Given the description of an element on the screen output the (x, y) to click on. 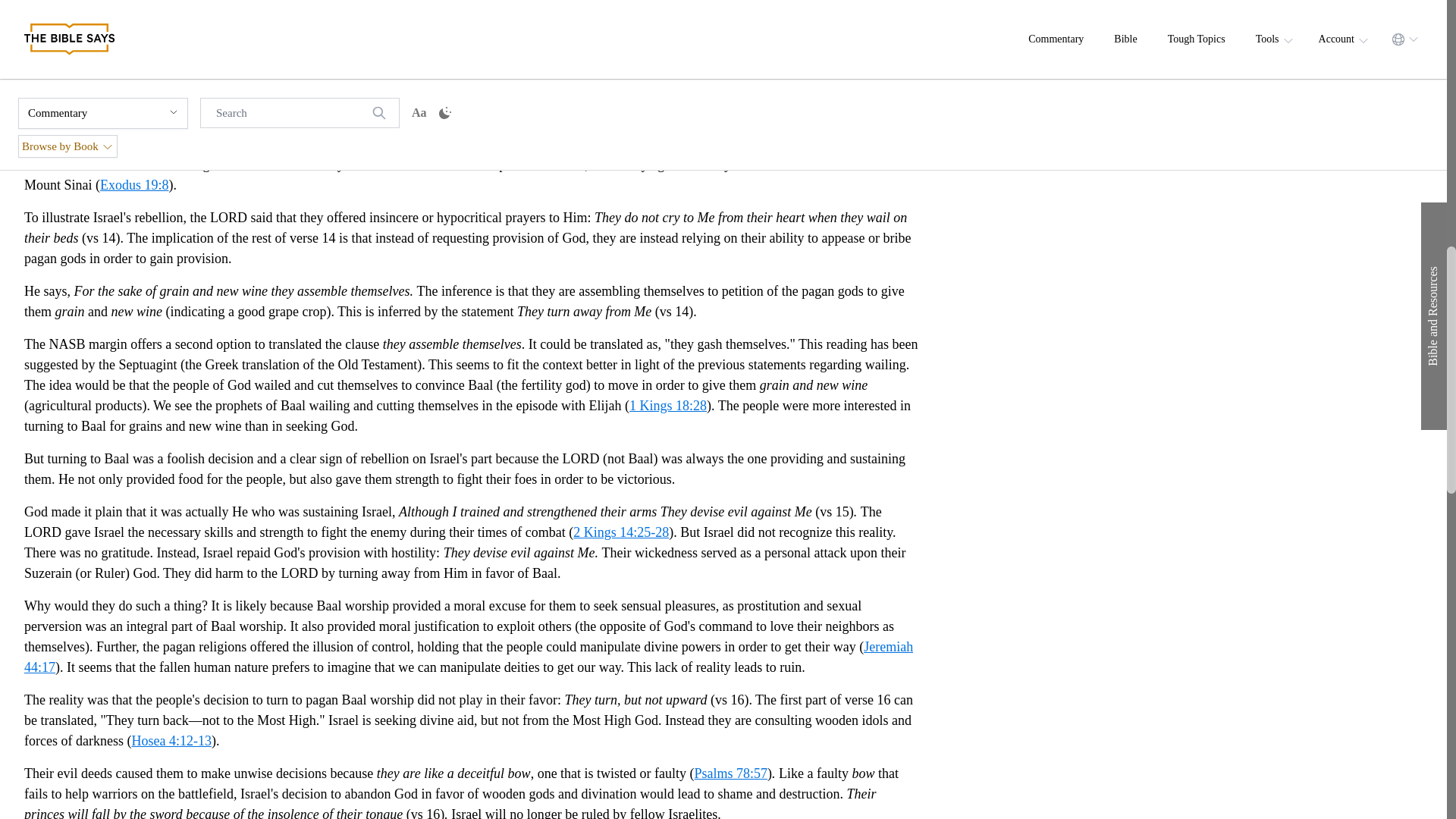
Accept Cookies (979, 41)
